Given the description of an element on the screen output the (x, y) to click on. 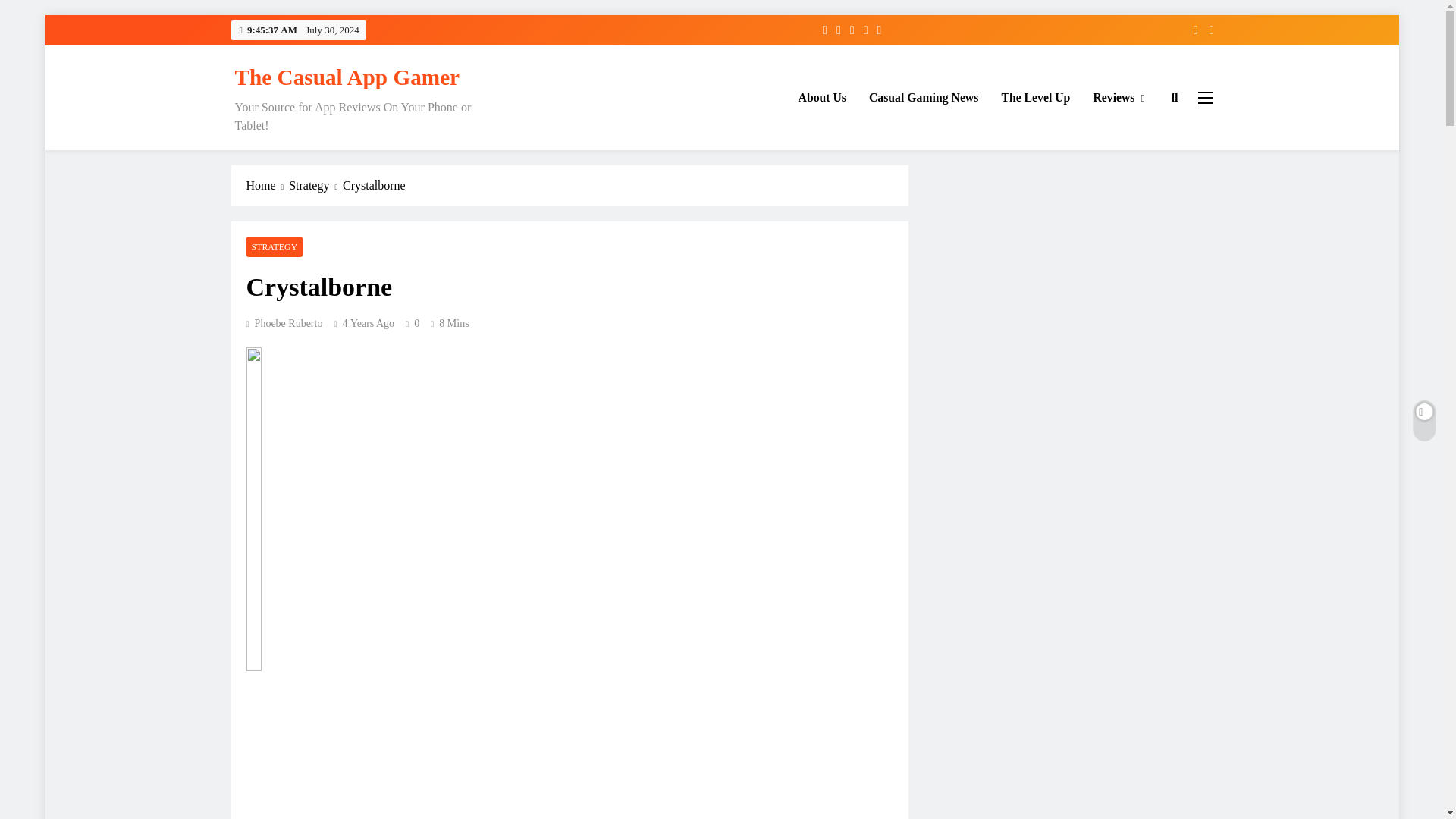
About Us (822, 96)
The Level Up (1035, 96)
Crystalborne Replay - The Casual App Gamer (488, 754)
The Casual App Gamer (347, 77)
Casual Gaming News (923, 96)
Reviews (1118, 97)
